Given the description of an element on the screen output the (x, y) to click on. 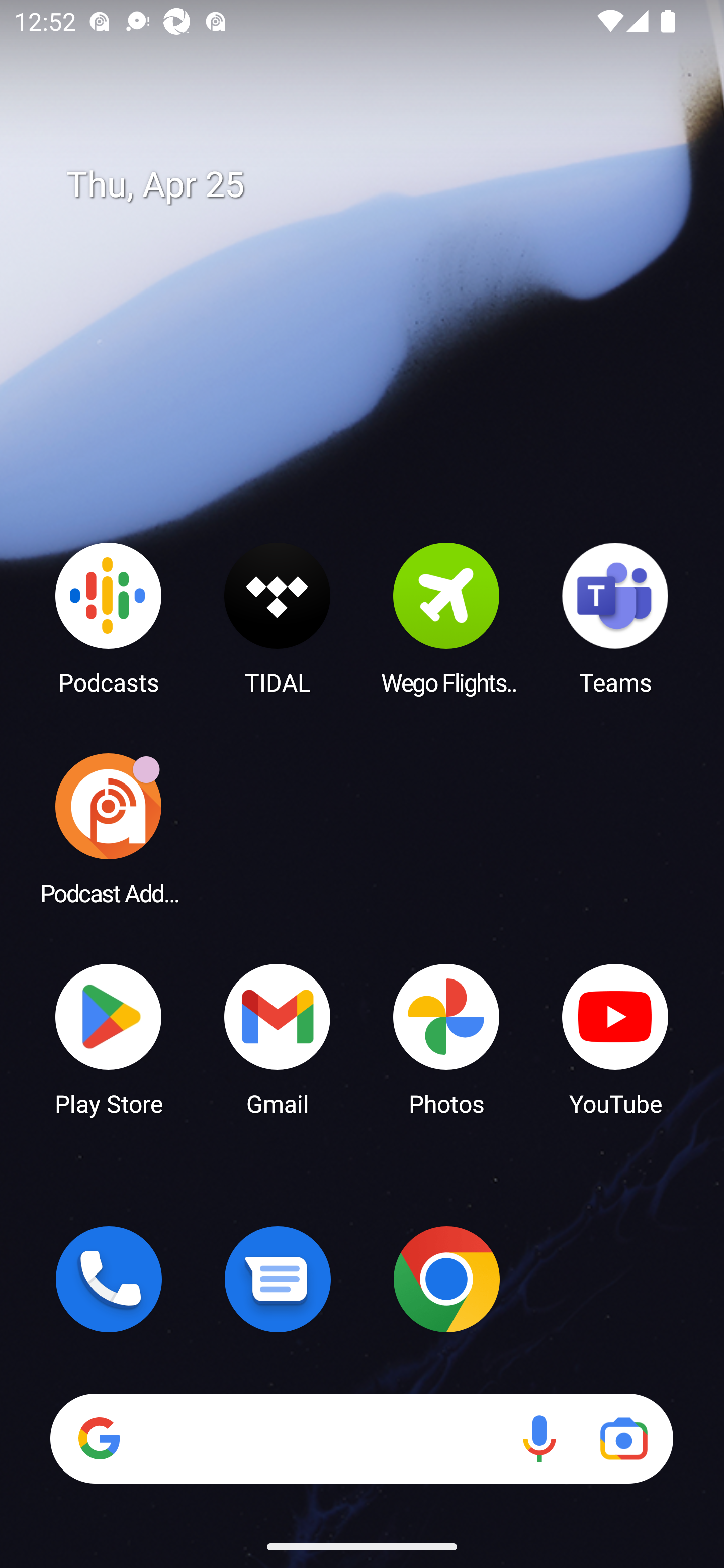
Thu, Apr 25 (375, 184)
Podcasts (108, 617)
TIDAL (277, 617)
Wego Flights & Hotels (445, 617)
Teams (615, 617)
Play Store (108, 1038)
Gmail (277, 1038)
Photos (445, 1038)
YouTube (615, 1038)
Phone (108, 1279)
Messages (277, 1279)
Chrome (446, 1279)
Search Voice search Google Lens (361, 1438)
Voice search (539, 1438)
Google Lens (623, 1438)
